Given the description of an element on the screen output the (x, y) to click on. 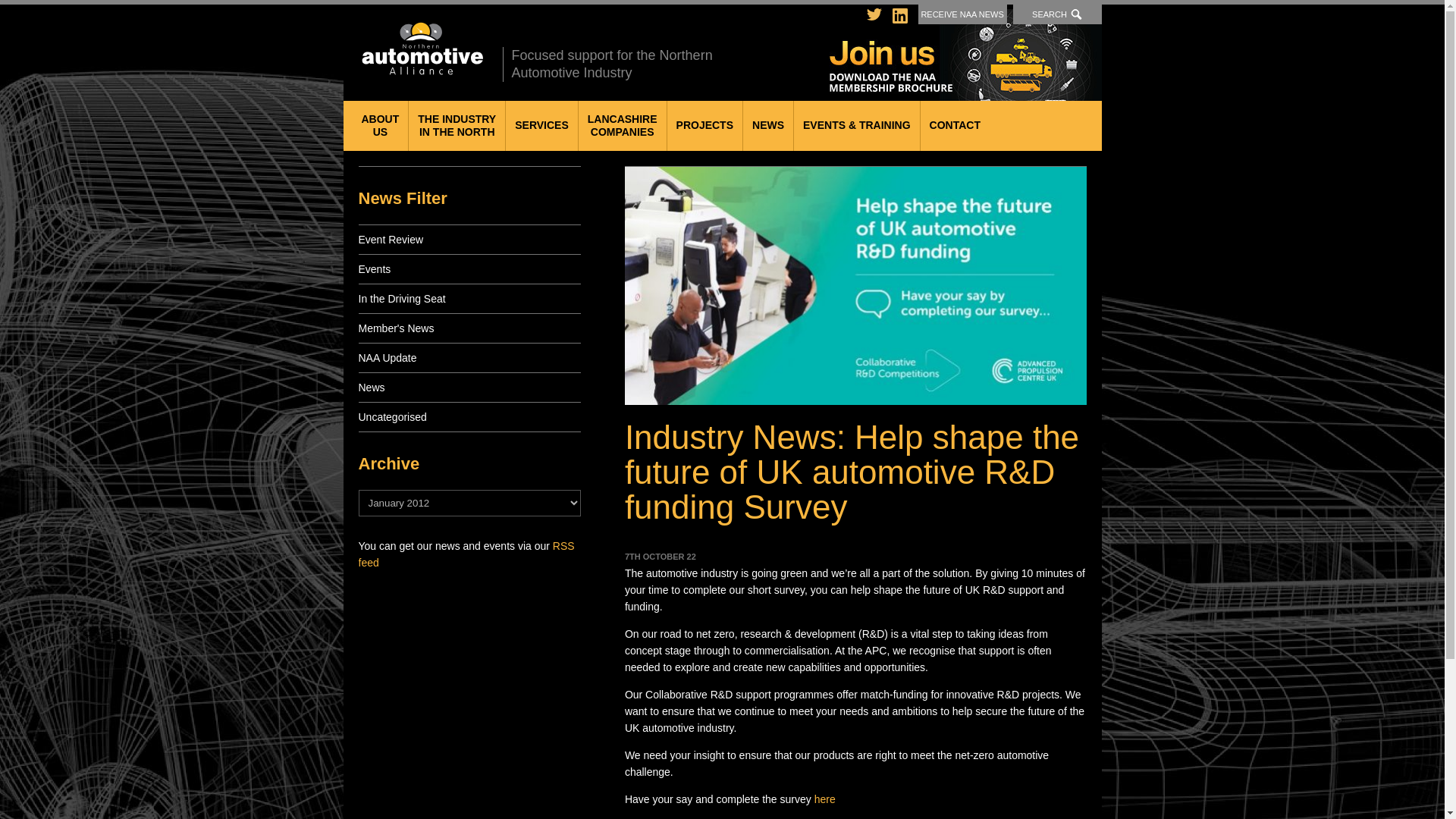
SERVICES (541, 125)
RECEIVE NAA NEWS (457, 125)
Northern Automotive Alliance (962, 14)
SEARCH (379, 125)
PROJECTS (420, 49)
Join us - Download the NAA membership brochure (1057, 14)
